Given the description of an element on the screen output the (x, y) to click on. 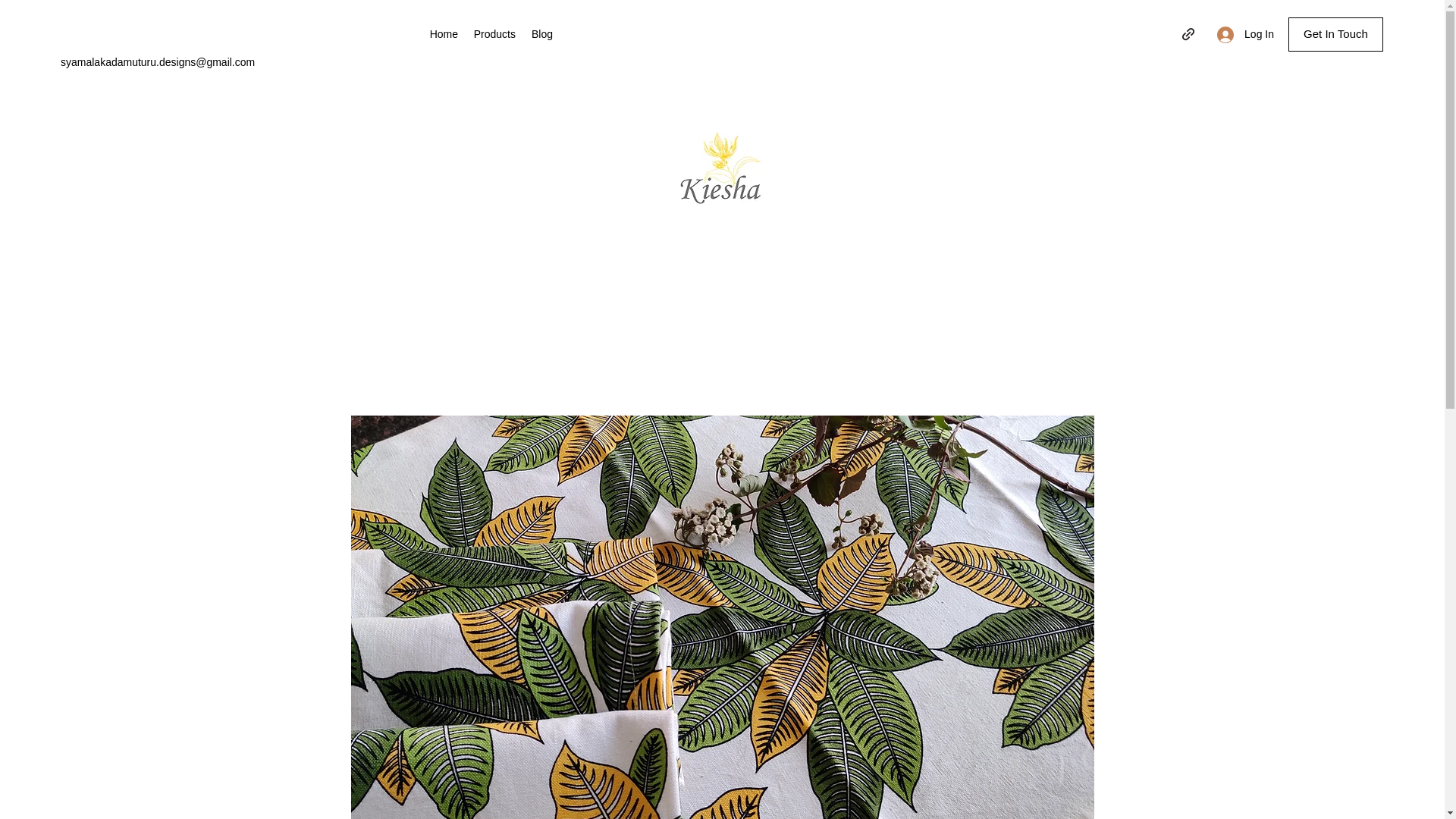
Log In (1245, 34)
Products (493, 33)
Get In Touch (1335, 34)
Blog (541, 33)
Home (443, 33)
